Given the description of an element on the screen output the (x, y) to click on. 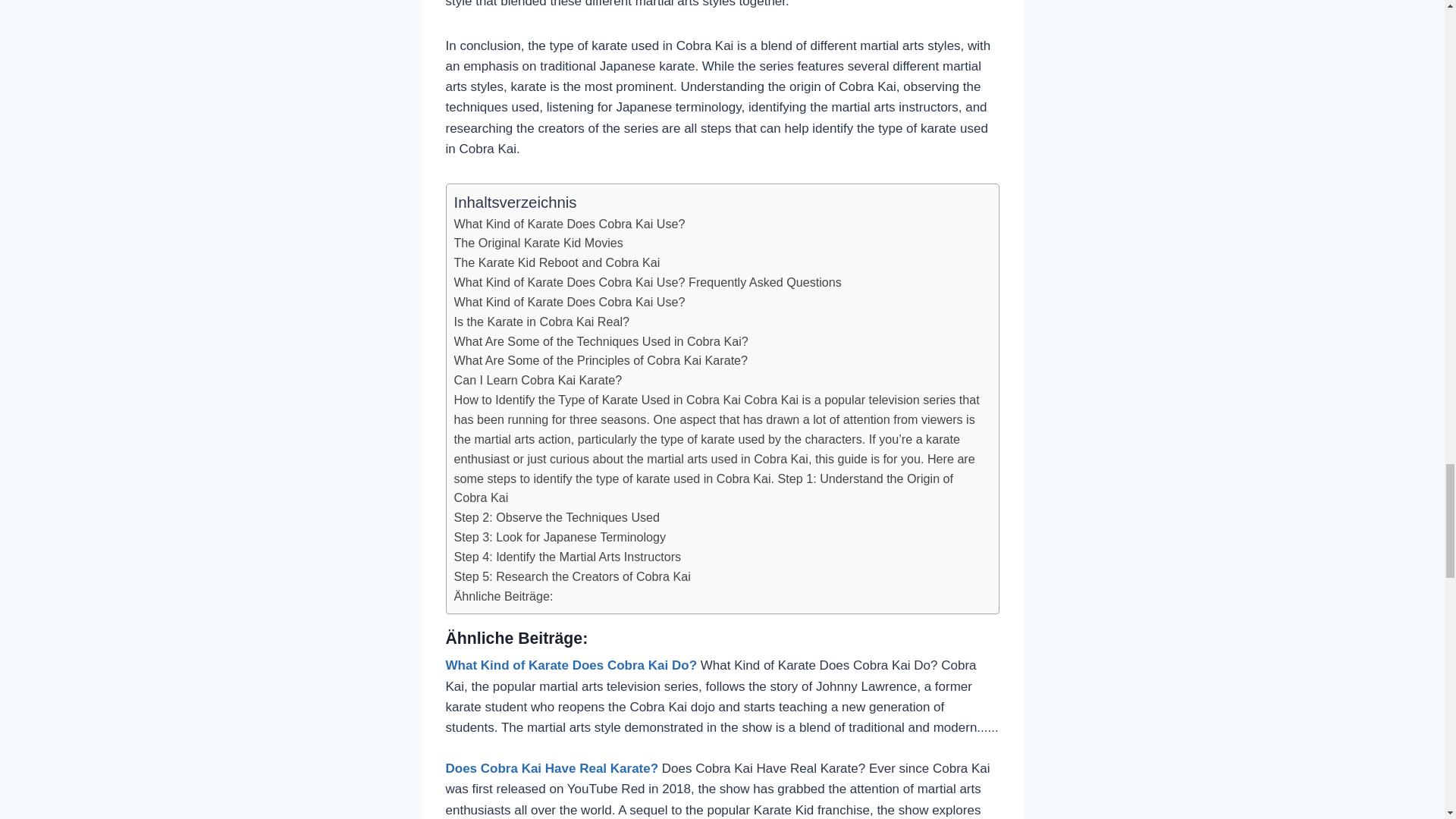
What Kind of Karate Does Cobra Kai Do? (571, 665)
What Are Some of the Principles of Cobra Kai Karate? (600, 361)
The Original Karate Kid Movies (537, 243)
Can I Learn Cobra Kai Karate? (536, 380)
What Kind of Karate Does Cobra Kai Use? (568, 302)
What Are Some of the Principles of Cobra Kai Karate? (600, 361)
Step 2: Observe the Techniques Used (555, 517)
What Are Some of the Techniques Used in Cobra Kai? (600, 342)
